Given the description of an element on the screen output the (x, y) to click on. 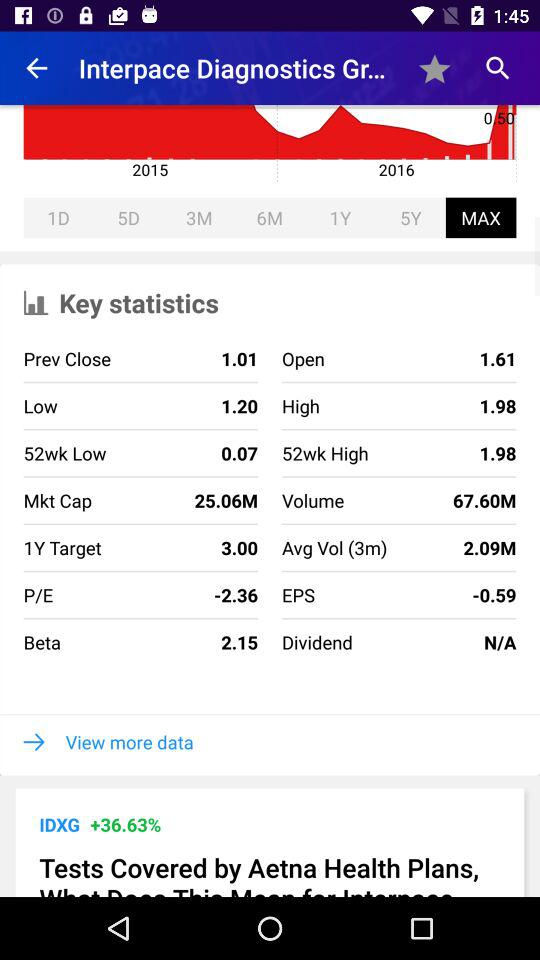
jump until the 5d item (128, 217)
